Given the description of an element on the screen output the (x, y) to click on. 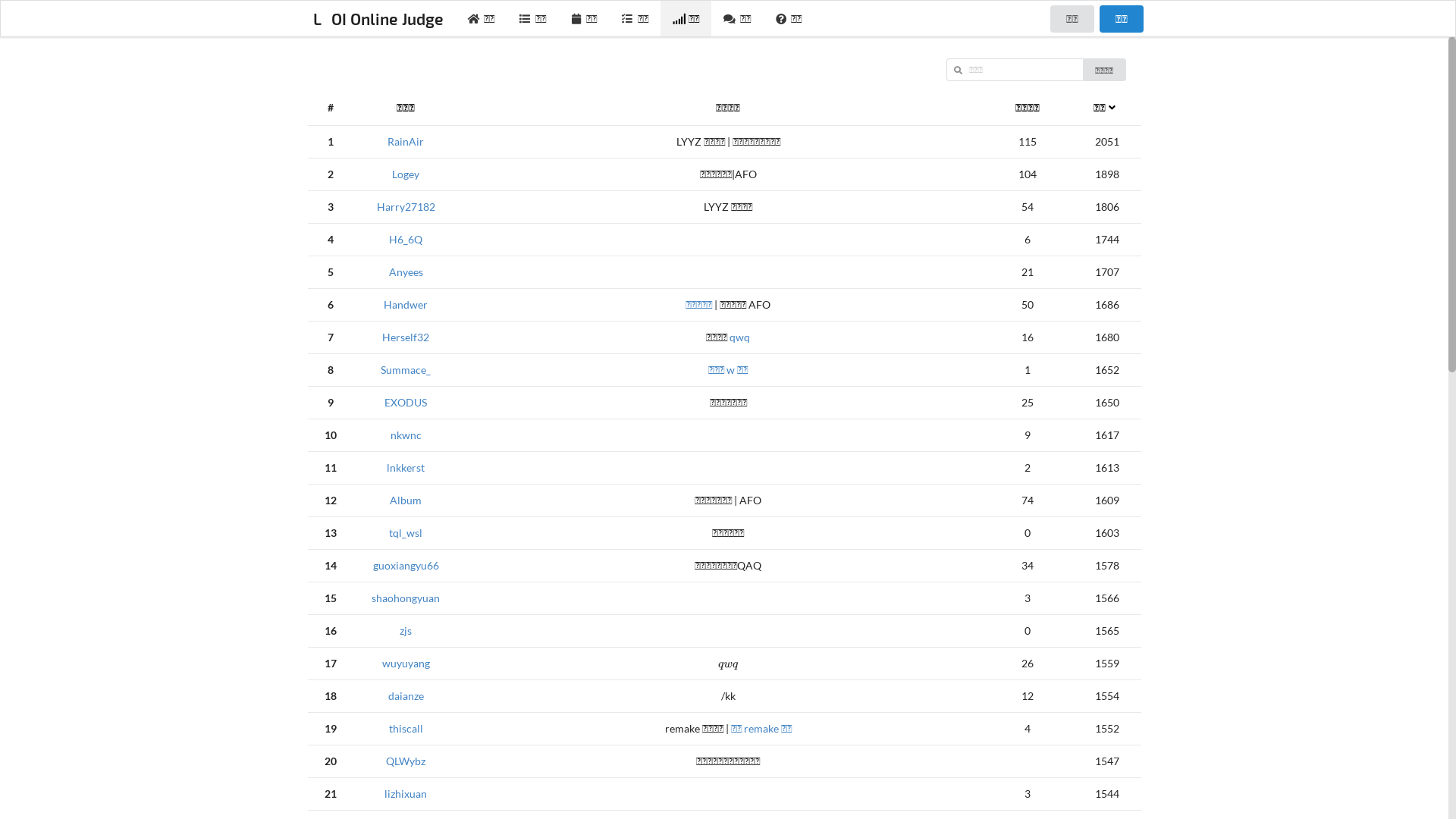
shaohongyuan Element type: text (405, 597)
EXODUS Element type: text (405, 401)
guoxiangyu66 Element type: text (406, 564)
lizhixuan Element type: text (405, 793)
lnkkerst Element type: text (405, 467)
qwq Element type: text (739, 336)
RainAir Element type: text (405, 140)
thiscall Element type: text (405, 727)
QLWybz Element type: text (405, 760)
daianze Element type: text (405, 695)
Harry27182 Element type: text (405, 206)
H6_6Q Element type: text (405, 238)
nkwnc Element type: text (404, 434)
Logey Element type: text (405, 173)
Album Element type: text (405, 499)
Herself32 Element type: text (405, 336)
Handwer Element type: text (405, 304)
Anyees Element type: text (405, 271)
wuyuyang Element type: text (405, 662)
zjs Element type: text (405, 630)
Summace_ Element type: text (405, 369)
tql_wsl Element type: text (405, 532)
